Given the description of an element on the screen output the (x, y) to click on. 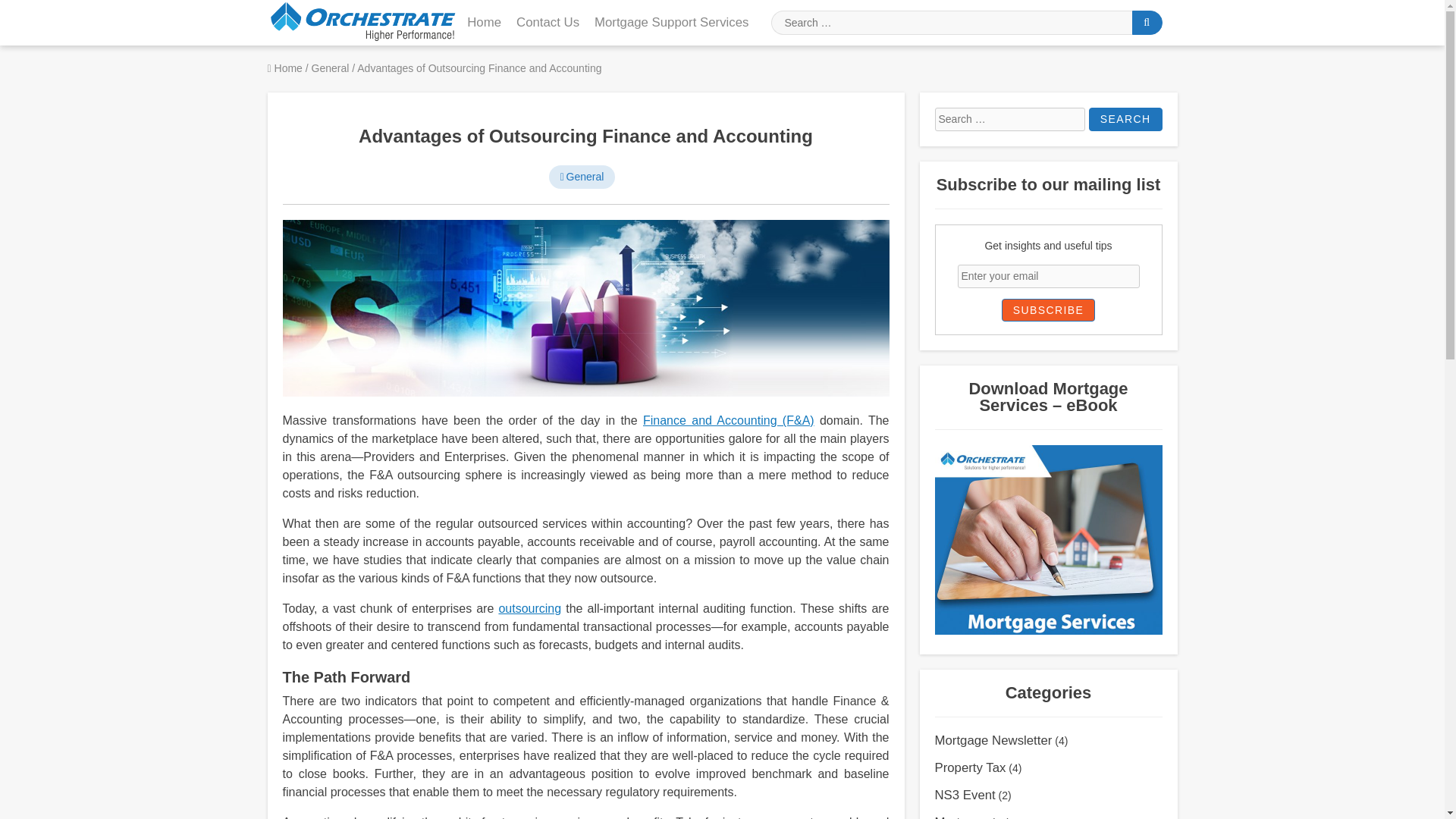
Finance and Accounting (728, 420)
Contact Us (547, 22)
General (331, 68)
outsourcing (528, 608)
Property Tax (970, 767)
Search (1125, 119)
Subscribe (1048, 309)
General (582, 176)
Home (285, 68)
outsourcing (528, 608)
Search (1125, 119)
Mortgage Support Services (671, 22)
Mortgage Newsletter (992, 740)
Advantages of Outsourcing Finance and Accounting (585, 308)
Advantages of Outsourcing Finance and Accounting (585, 136)
